Given the description of an element on the screen output the (x, y) to click on. 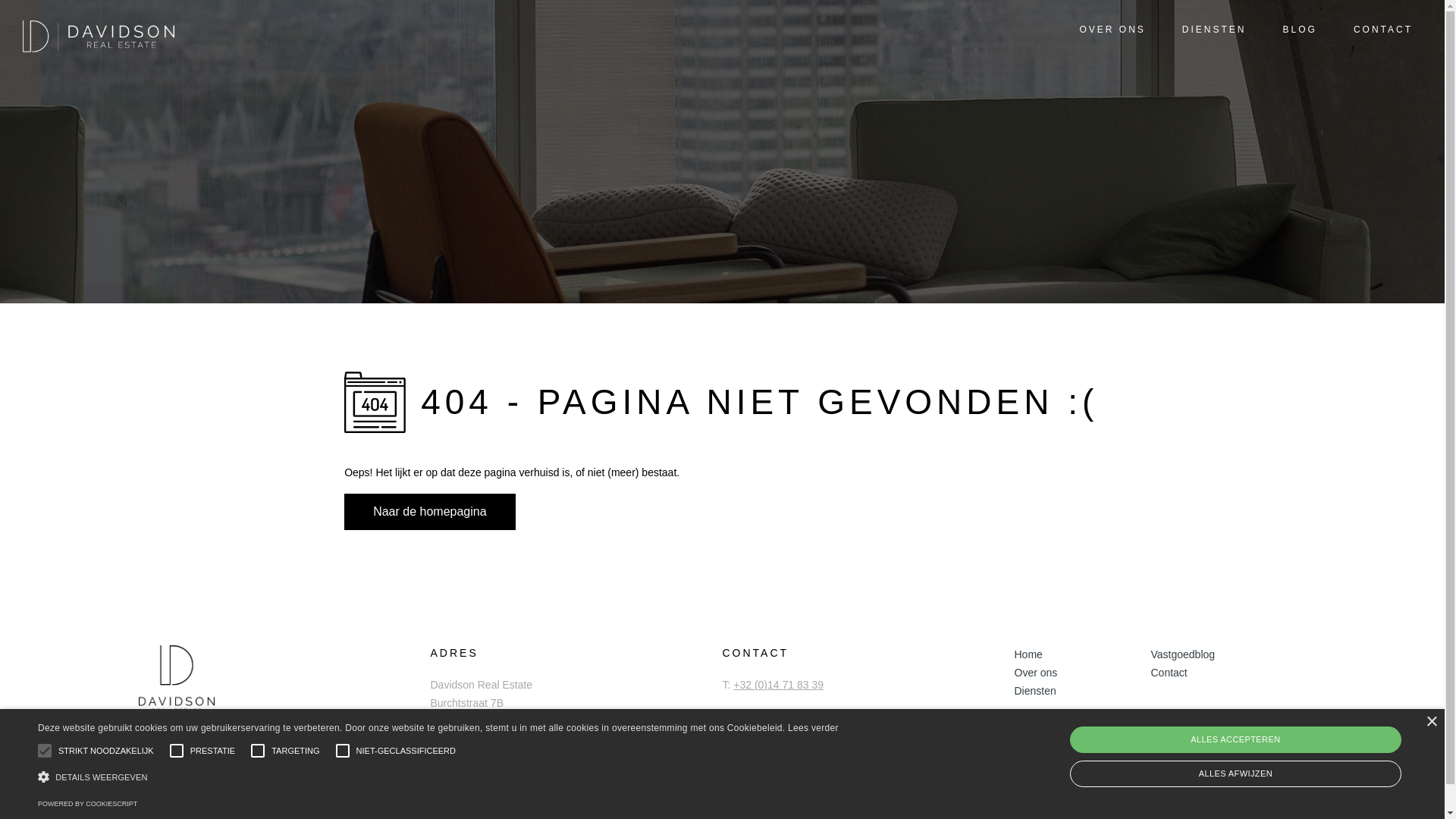
info@davidsonrealestate.be Element type: text (804, 715)
Vastgoedblog Element type: text (1219, 654)
OVER ONS Element type: text (1102, 30)
CONTACT Element type: text (1373, 30)
+32 (0)14 71 83 39 Element type: text (778, 684)
Diensten Element type: text (1082, 690)
Contact Element type: text (1219, 672)
Lees verder Element type: text (812, 727)
Website door Boester Element type: text (1254, 811)
POWERED BY COOKIESCRIPT Element type: text (87, 803)
Over ons Element type: text (1082, 672)
BLOG Element type: text (1290, 30)
Naar de homepagina Element type: text (429, 511)
DIENSTEN Element type: text (1204, 30)
Home Element type: text (1082, 654)
